Given the description of an element on the screen output the (x, y) to click on. 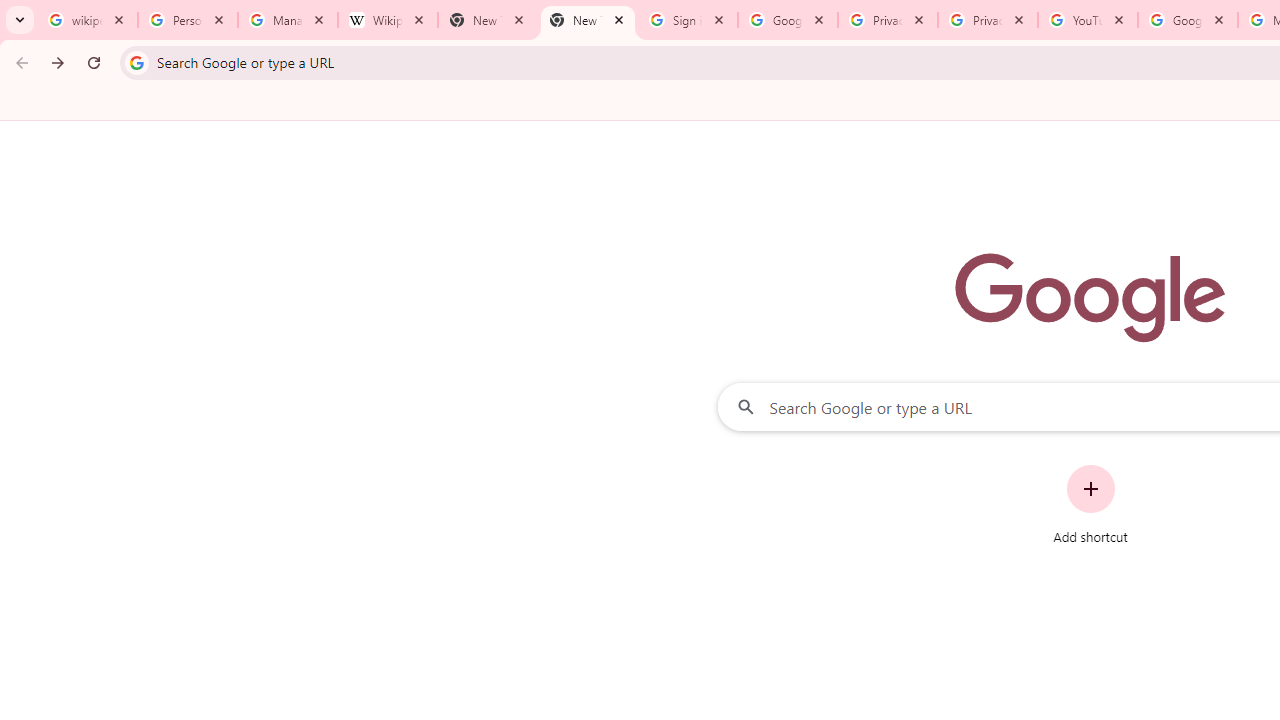
Google Account Help (1187, 20)
YouTube (1087, 20)
Wikipedia:Edit requests - Wikipedia (387, 20)
New Tab (587, 20)
